Given the description of an element on the screen output the (x, y) to click on. 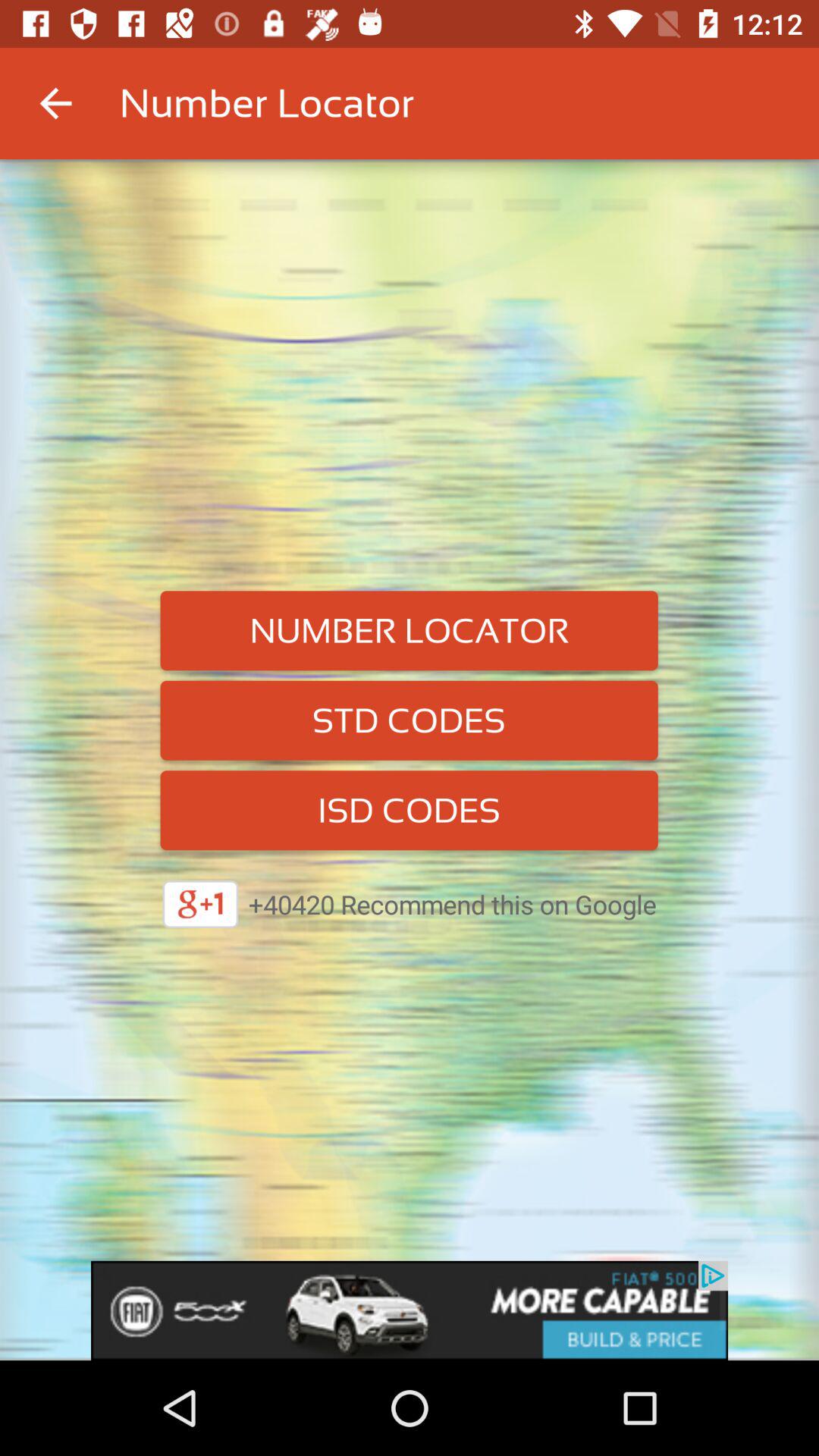
ho to advertisement (409, 1310)
